Given the description of an element on the screen output the (x, y) to click on. 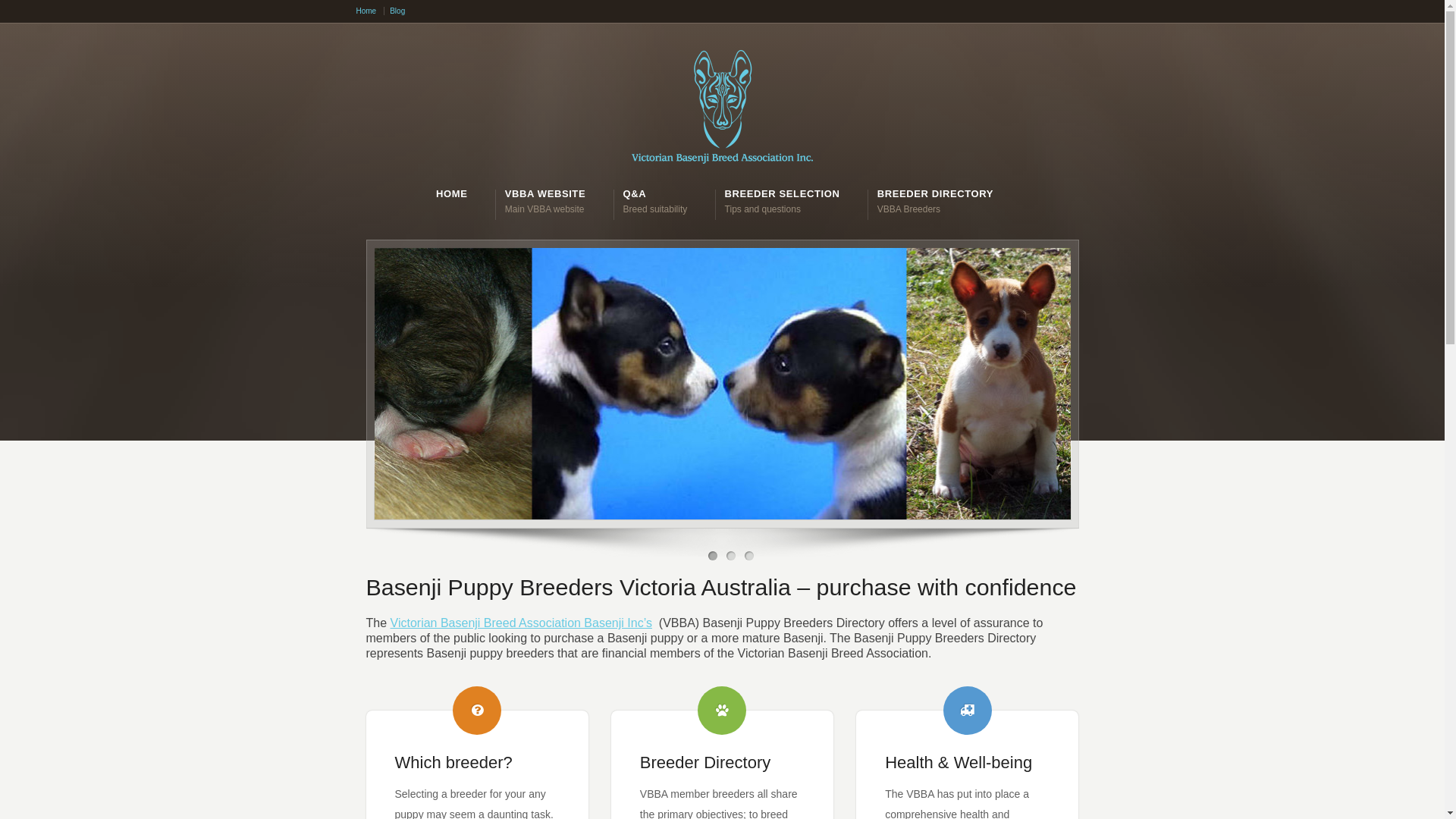
3 Element type: text (748, 555)
VBBA WEBSITE
Main VBBA website Element type: text (545, 200)
Blog Element type: text (396, 10)
1 Element type: text (712, 555)
BREEDER DIRECTORY
VBBA Breeders Element type: text (935, 200)
2 Element type: text (730, 555)
HOME Element type: text (451, 193)
BREEDER SELECTION
Tips and questions Element type: text (782, 200)
Home Element type: text (370, 10)
Q&A
Breed suitability Element type: text (655, 200)
